Given the description of an element on the screen output the (x, y) to click on. 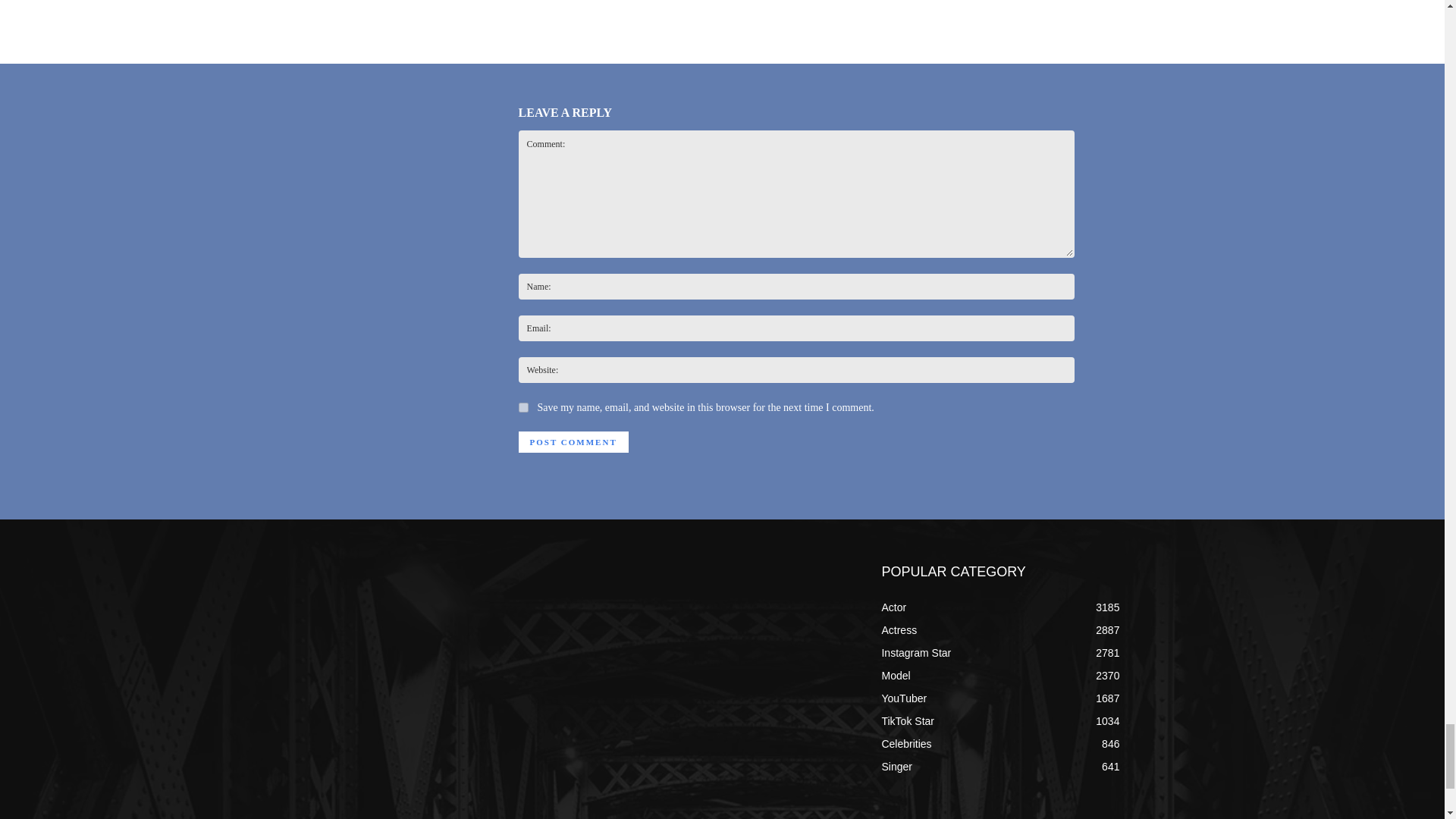
Post Comment (573, 441)
yes (523, 407)
